Given the description of an element on the screen output the (x, y) to click on. 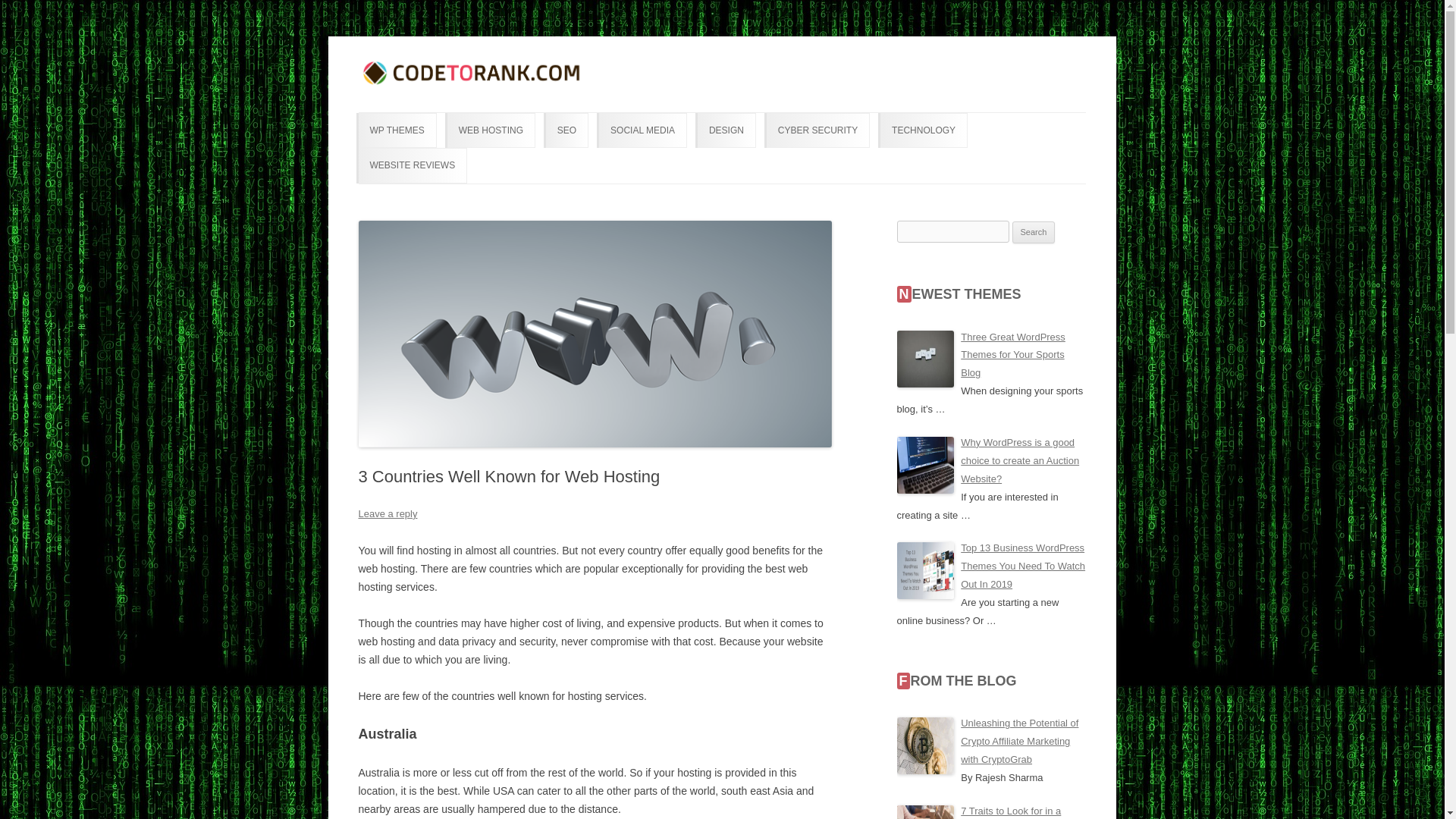
Search (1033, 232)
Three Great WordPress Themes for Your Sports Blog (1012, 354)
WEB HOSTING (490, 130)
TECHNOLOGY (923, 130)
WEBSITE REVIEWS (412, 164)
Search (1033, 232)
Why WordPress is a good choice to create an Auction Website? (1019, 460)
Leave a reply (387, 513)
CYBER SECURITY (817, 130)
WINDOWS (956, 162)
